Given the description of an element on the screen output the (x, y) to click on. 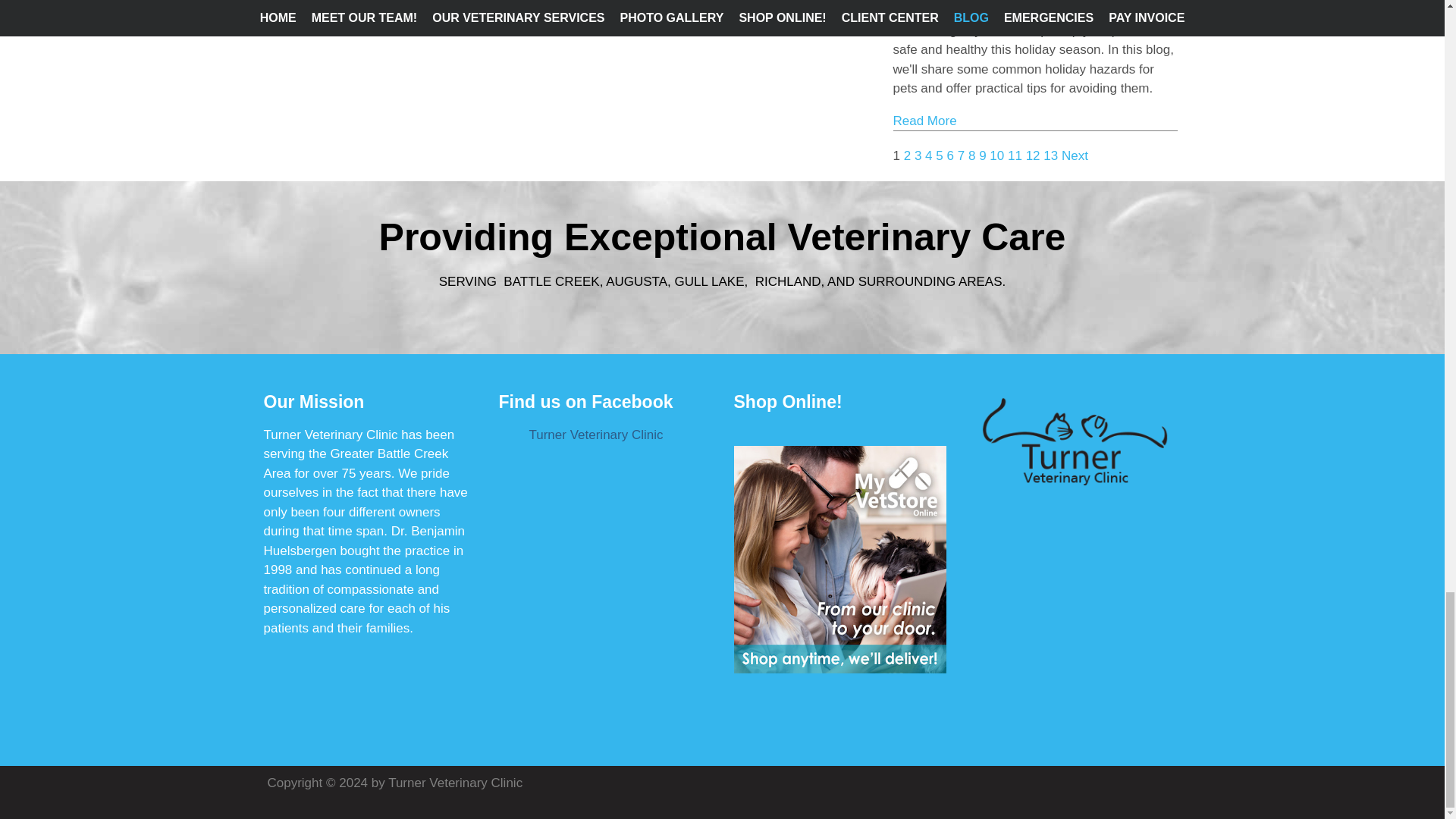
Read More (924, 120)
Next (1074, 155)
12 (1033, 155)
10 (997, 155)
13 (1050, 155)
11 (1014, 155)
Turner Veterinary Clinic (596, 434)
